Given the description of an element on the screen output the (x, y) to click on. 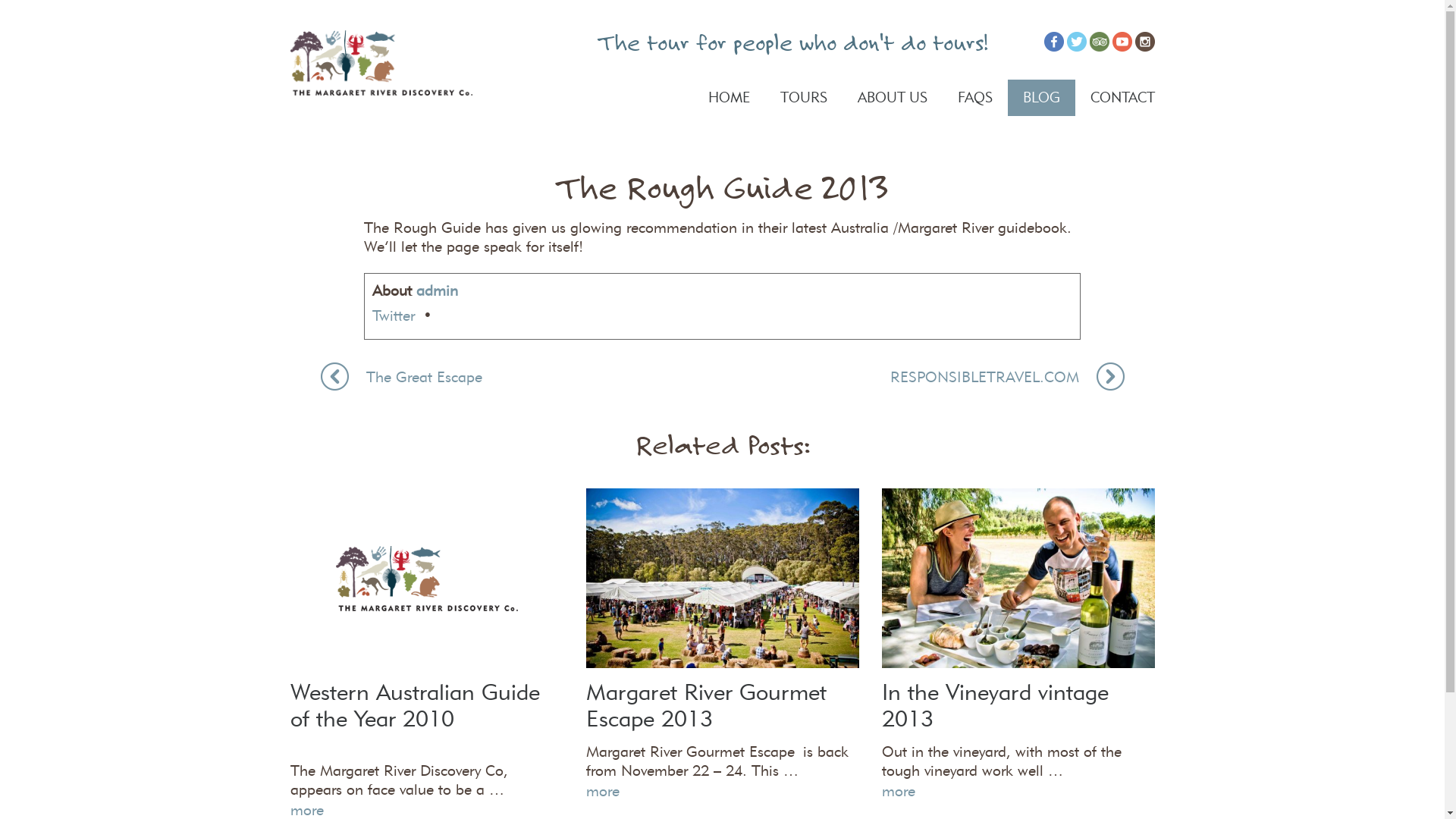
FAQS Element type: text (974, 97)
Follow the Margaret River Discovery Company on Twitter Element type: hover (1075, 41)
In the Vineyard vintage 2013 Element type: hover (1017, 576)
ABOUT US Element type: text (891, 97)
Watch the Margaret River Discovery Company on YouTube Element type: hover (1121, 41)
Margaret River Gourmet Escape 2013 Element type: hover (721, 576)
more Element type: text (897, 790)
In the Vineyard vintage 2013 Element type: text (994, 704)
Margaret River Gourmet Escape 2013 Element type: text (705, 704)
Rate the Margaret River Discovery Company on Trip Advisor Element type: hover (1098, 41)
Twitter Element type: text (393, 315)
admin Element type: text (437, 290)
RESPONSIBLETRAVEL.COM Element type: text (1007, 376)
The Rough Guide 2013 Element type: text (380, 62)
CONTACT Element type: text (1114, 97)
No 1 on TRIPADVISOR Element type: hover (380, 62)
Western Australian Guide of the Year 2010 Element type: hover (425, 578)
Like the Margaret River Discovery Company on Facebook Element type: hover (1053, 41)
BLOG Element type: text (1040, 97)
The Great Escape Element type: text (400, 376)
HOME Element type: text (729, 97)
more Element type: text (601, 790)
Follow the Margaret River Discovery Company on Instagram Element type: hover (1144, 41)
Western Australian Guide of the Year 2010 Element type: text (414, 704)
TOURS Element type: text (802, 97)
